Given the description of an element on the screen output the (x, y) to click on. 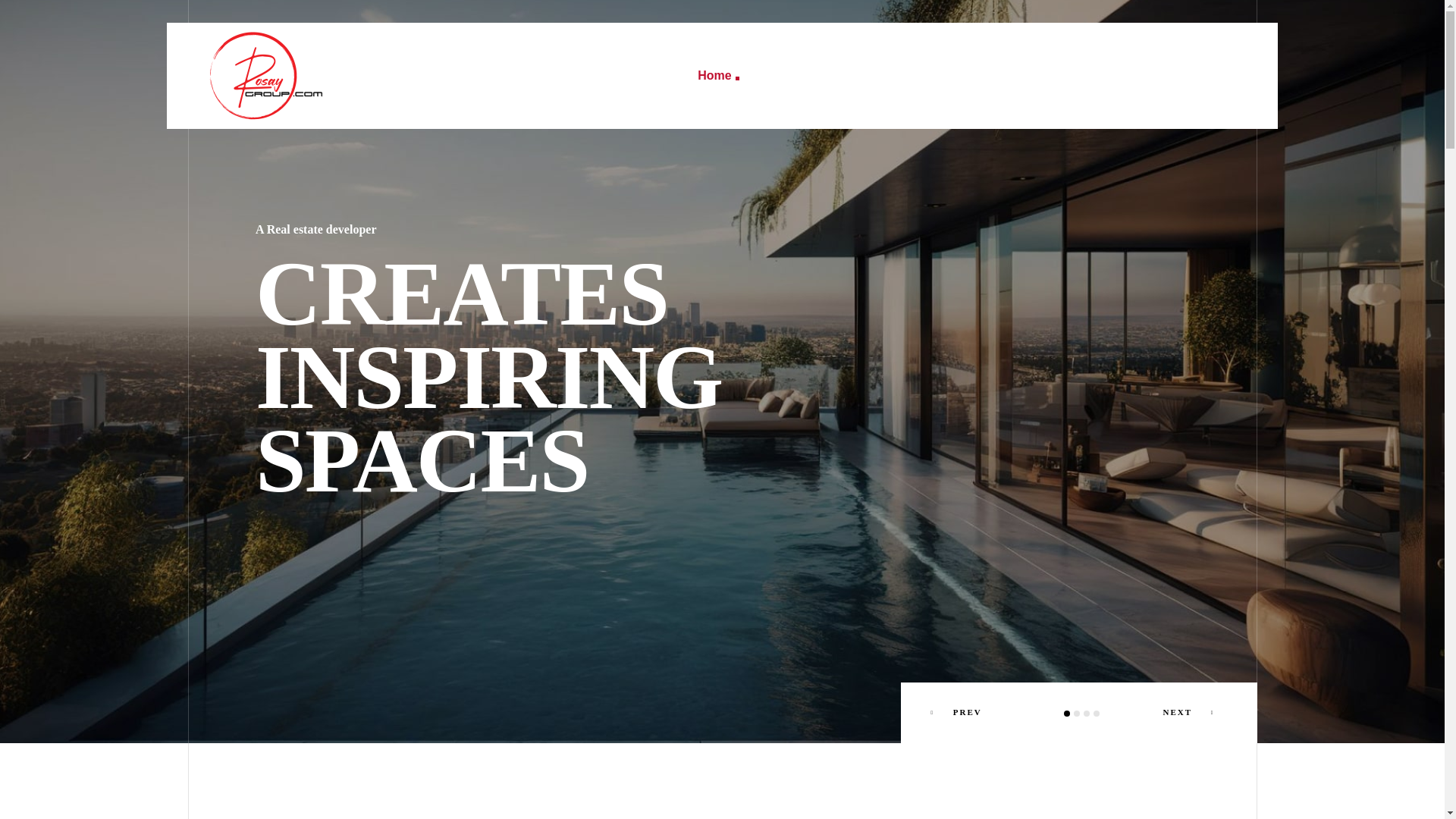
Home (718, 75)
